Given the description of an element on the screen output the (x, y) to click on. 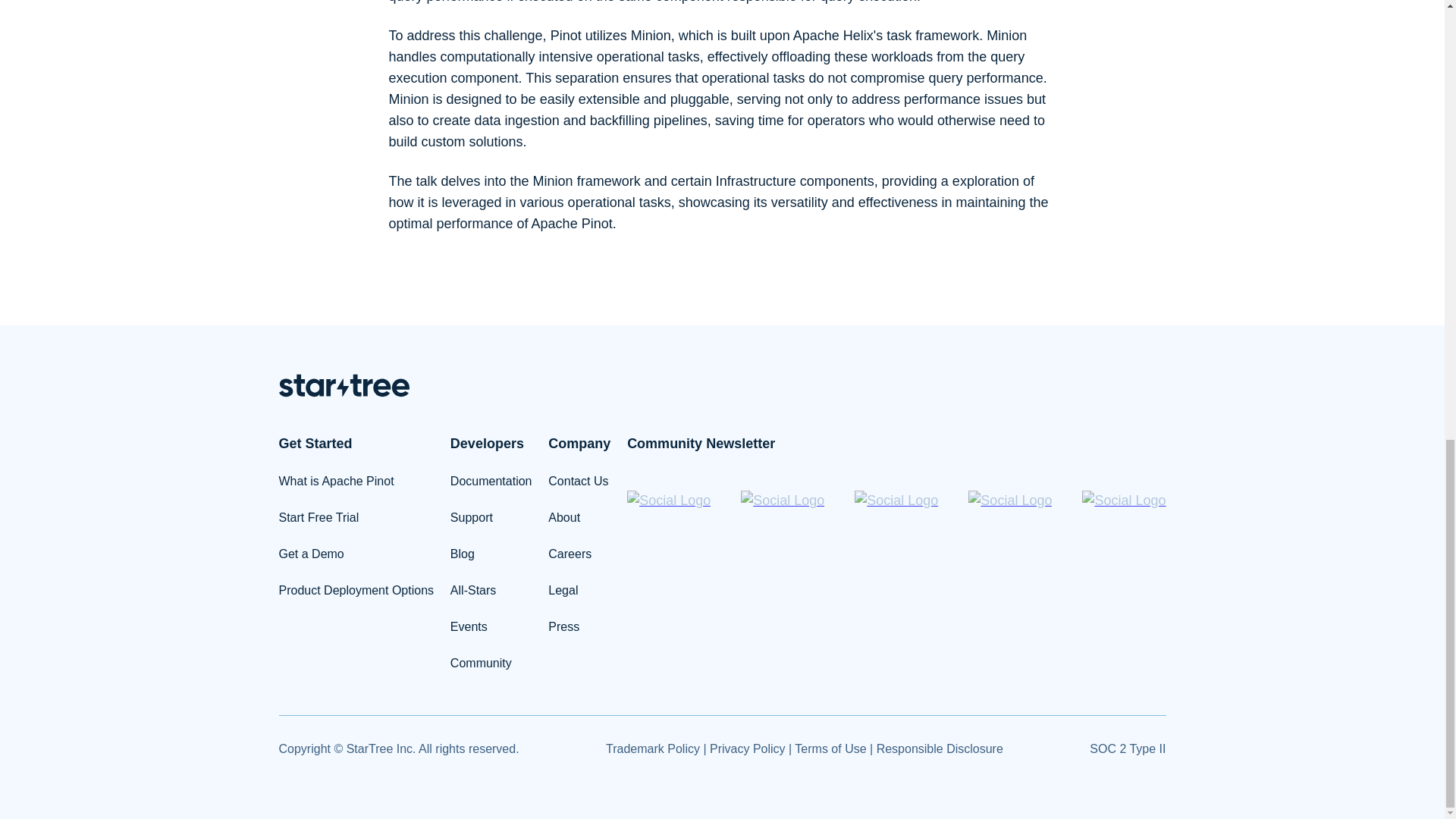
Events (468, 626)
About (563, 517)
StarTree Trademark Policy (652, 748)
Product Deployment Options (356, 590)
Support (471, 517)
Contact Us (578, 481)
What is Apache Pinot (336, 481)
Get a Demo (311, 553)
Community (480, 662)
All-Stars (472, 590)
Blog (461, 553)
Documentation (490, 481)
Start Free Trial (319, 517)
